Given the description of an element on the screen output the (x, y) to click on. 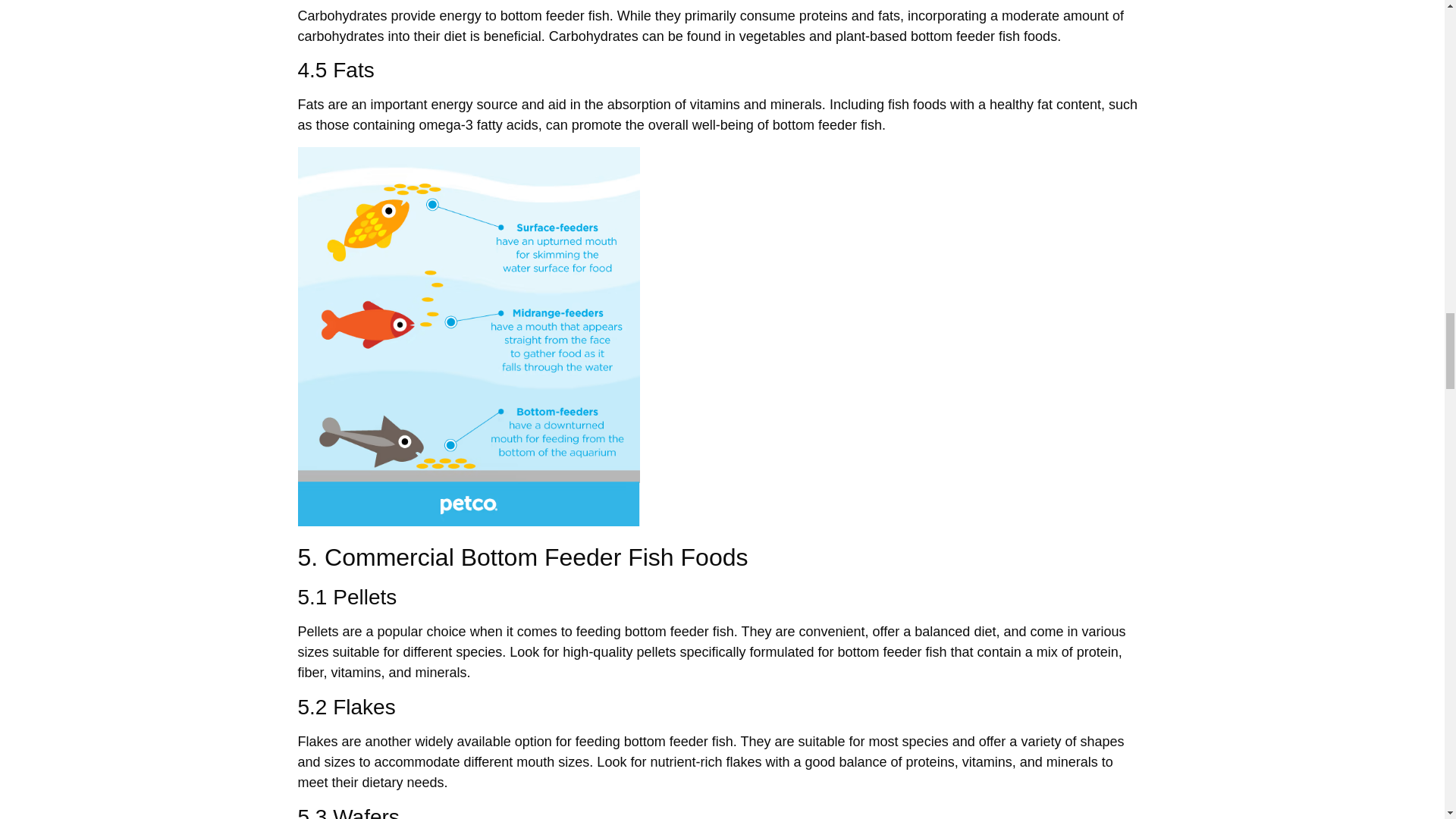
The Ultimate Guide to Bottom Feeder Fish Food (468, 336)
